Given the description of an element on the screen output the (x, y) to click on. 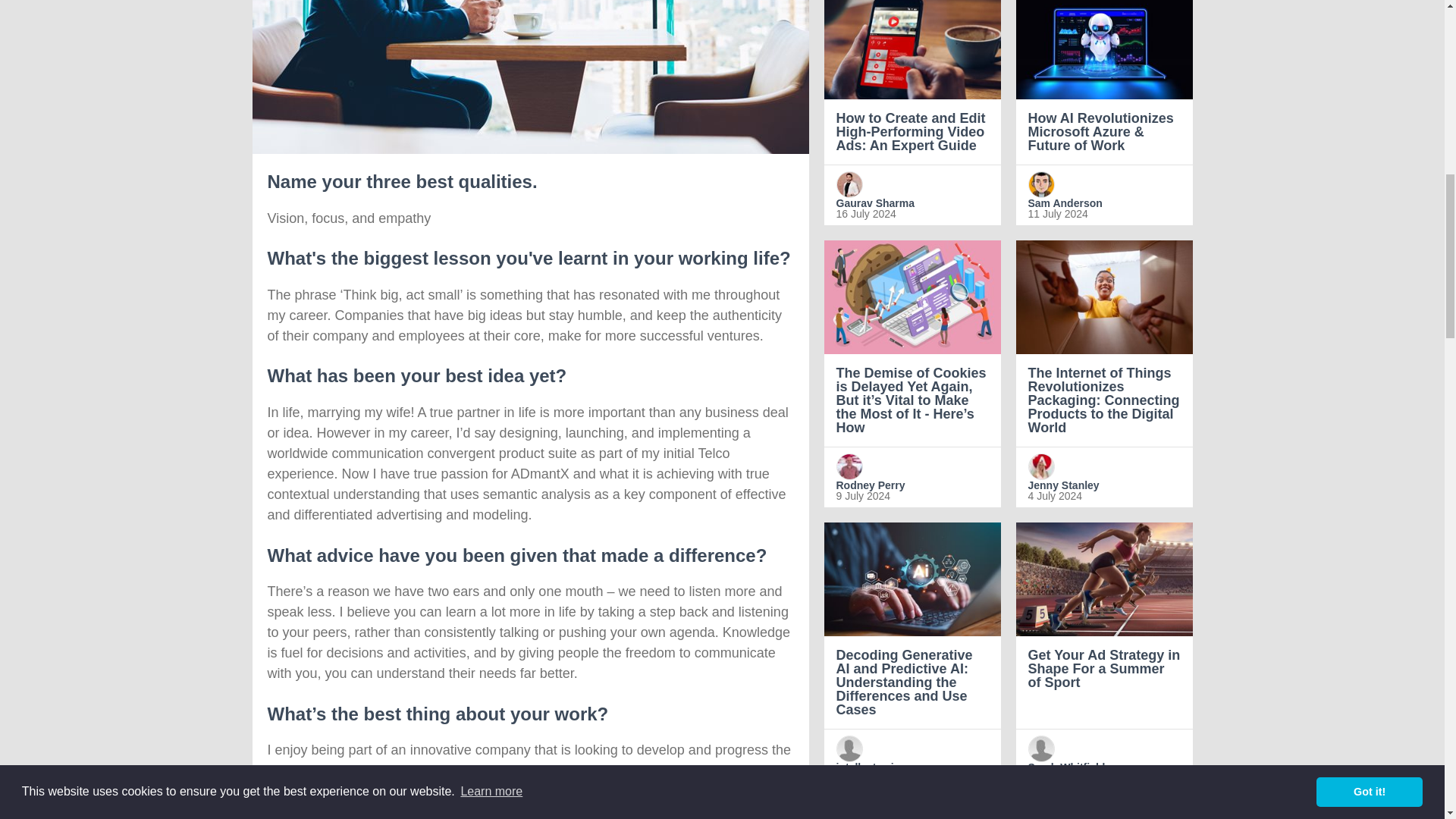
Read more (912, 112)
Read more (1104, 112)
